Given the description of an element on the screen output the (x, y) to click on. 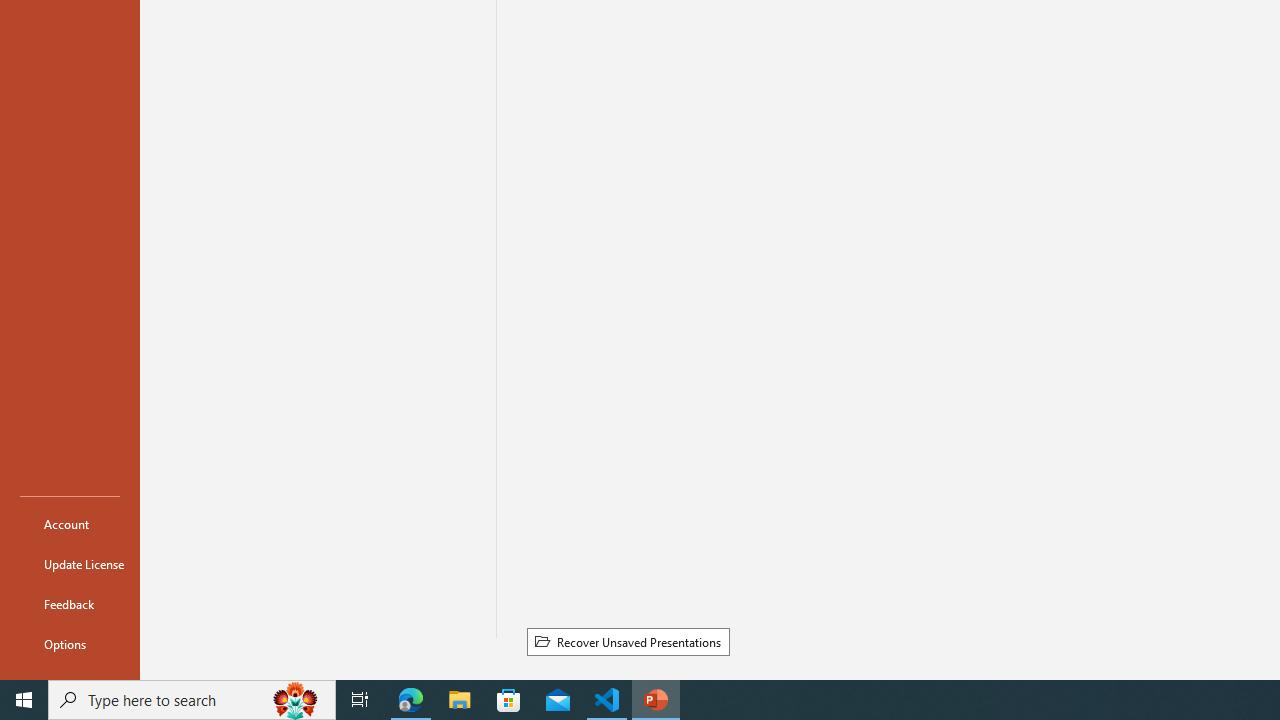
Options (69, 643)
Account (69, 523)
Update License (69, 563)
Feedback (69, 603)
Recover Unsaved Presentations (628, 641)
